Given the description of an element on the screen output the (x, y) to click on. 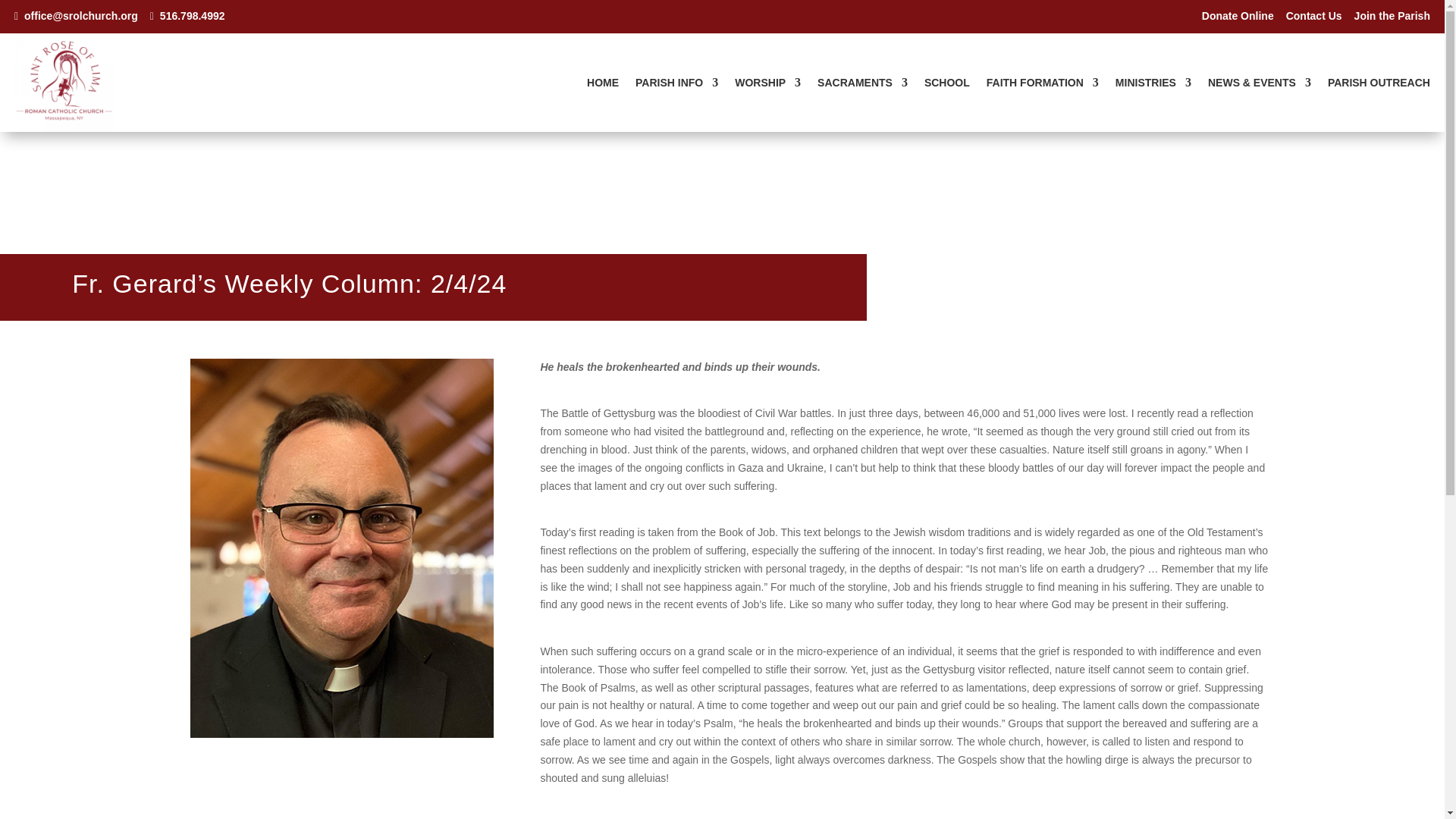
Contact Us (1313, 15)
516.798.4992 (187, 15)
Donate Online (1238, 15)
HOME (602, 85)
WORSHIP (767, 85)
SCHOOL (946, 85)
SACRAMENTS (861, 85)
MINISTRIES (1153, 85)
Join the Parish (1391, 15)
PARISH INFO (675, 85)
FAITH FORMATION (1043, 85)
